Given the description of an element on the screen output the (x, y) to click on. 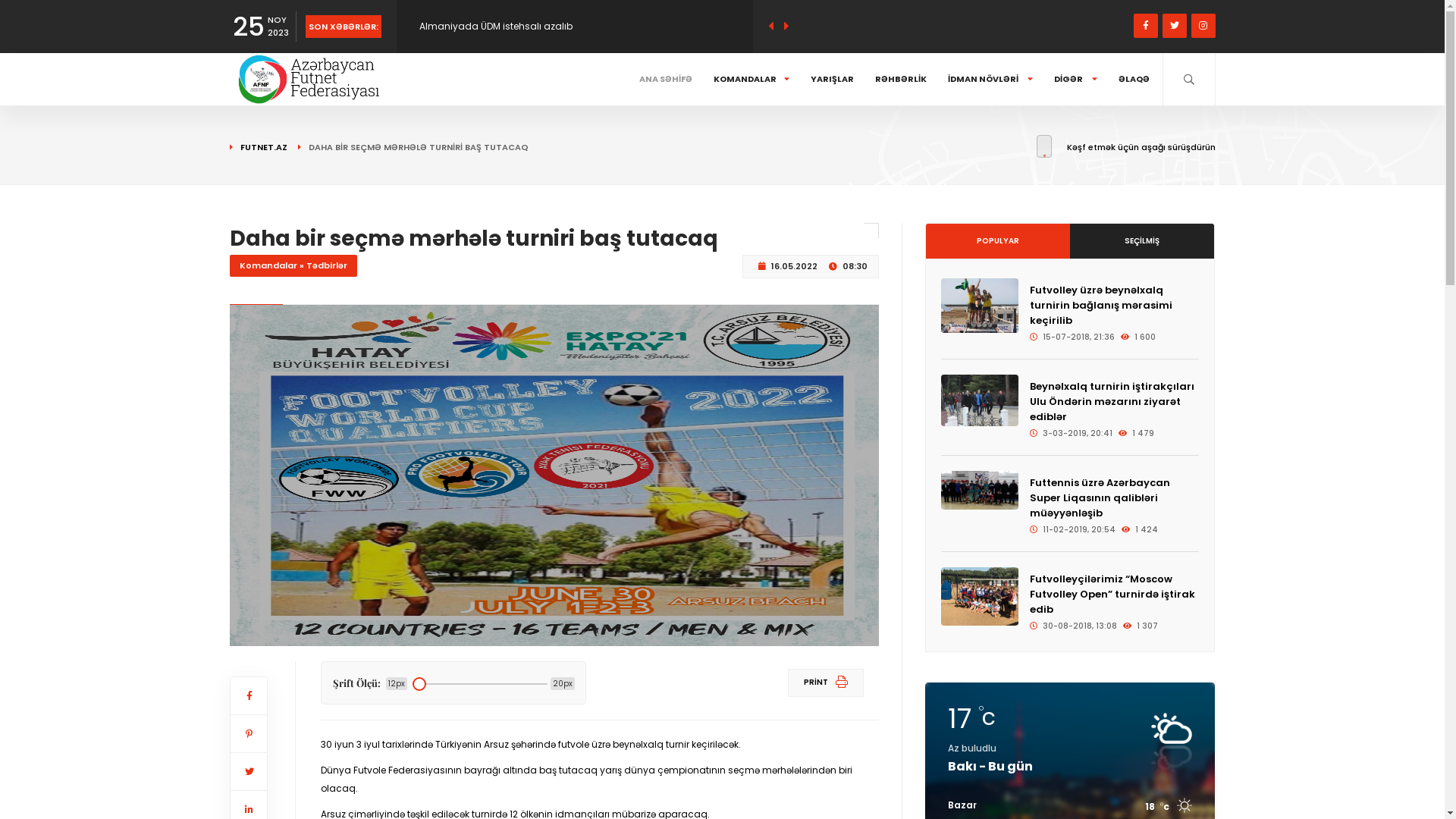
POPULYAR Element type: text (997, 240)
FUTNET.AZ Element type: text (257, 147)
KOMANDALAR Element type: text (751, 78)
